Given the description of an element on the screen output the (x, y) to click on. 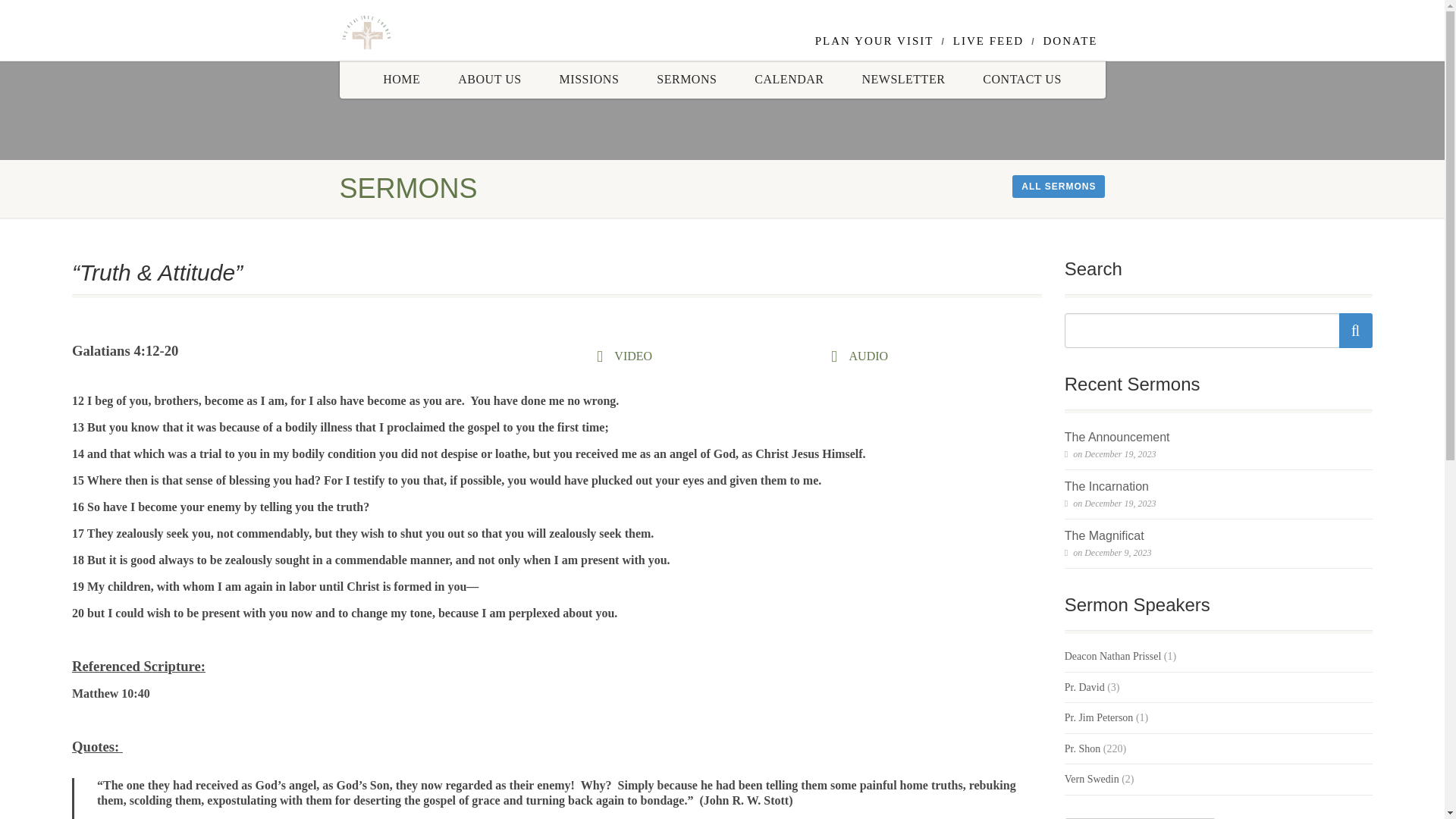
SERMONS (686, 79)
The Announcement (1117, 437)
DONATE (1070, 40)
LIVE FEED (988, 40)
CONTACT US (1021, 79)
VIDEO (629, 356)
PLAN YOUR VISIT (874, 40)
The Magnificat (1104, 536)
Pr. Jim Peterson (1099, 717)
